Given the description of an element on the screen output the (x, y) to click on. 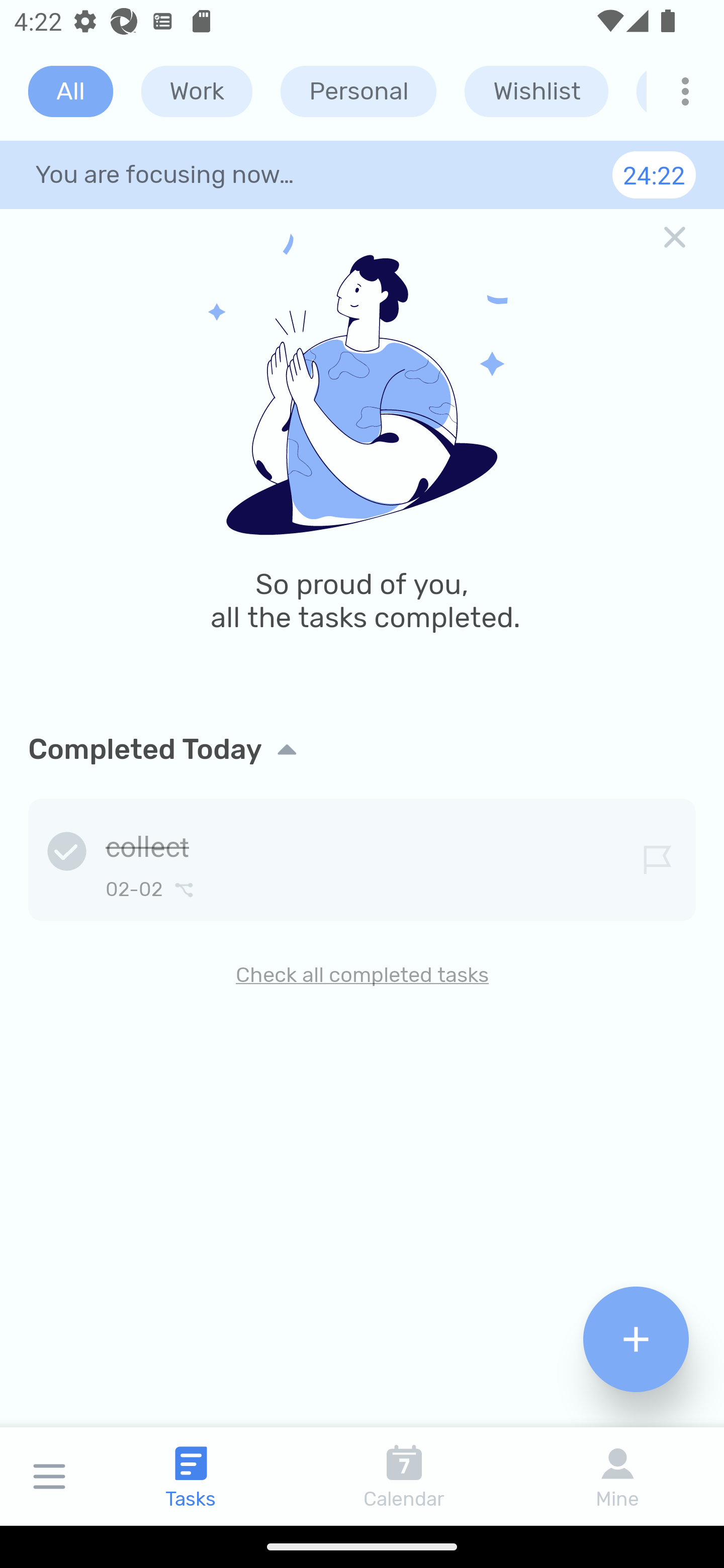
All (70, 91)
Work (196, 91)
Personal (358, 91)
Wishlist (536, 91)
You are focusing now… 24:22 (362, 174)
So proud of you,
 all the tasks completed. (362, 457)
Completed Today (362, 749)
collect 02-02 (362, 856)
Check all completed tasks (361, 974)
Tasks (190, 1475)
Calendar (404, 1475)
Mine (617, 1475)
